Given the description of an element on the screen output the (x, y) to click on. 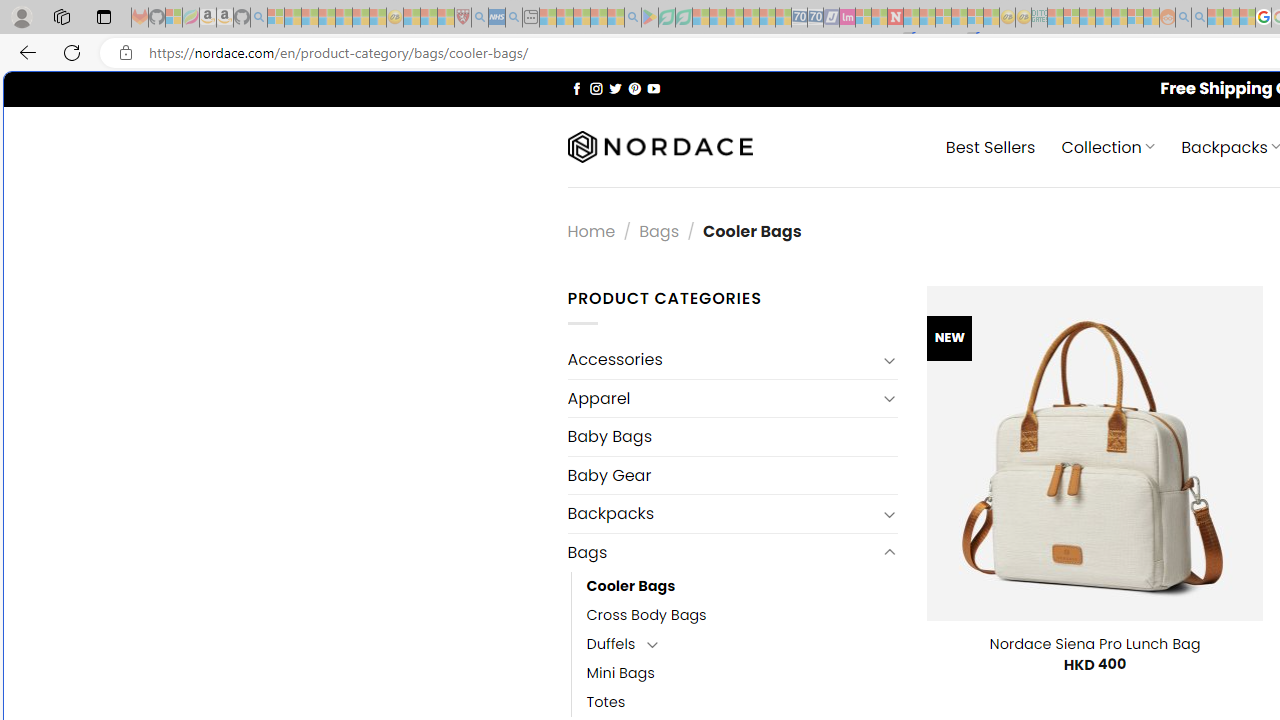
  Best Sellers (989, 146)
Duffels (611, 643)
